Given the description of an element on the screen output the (x, y) to click on. 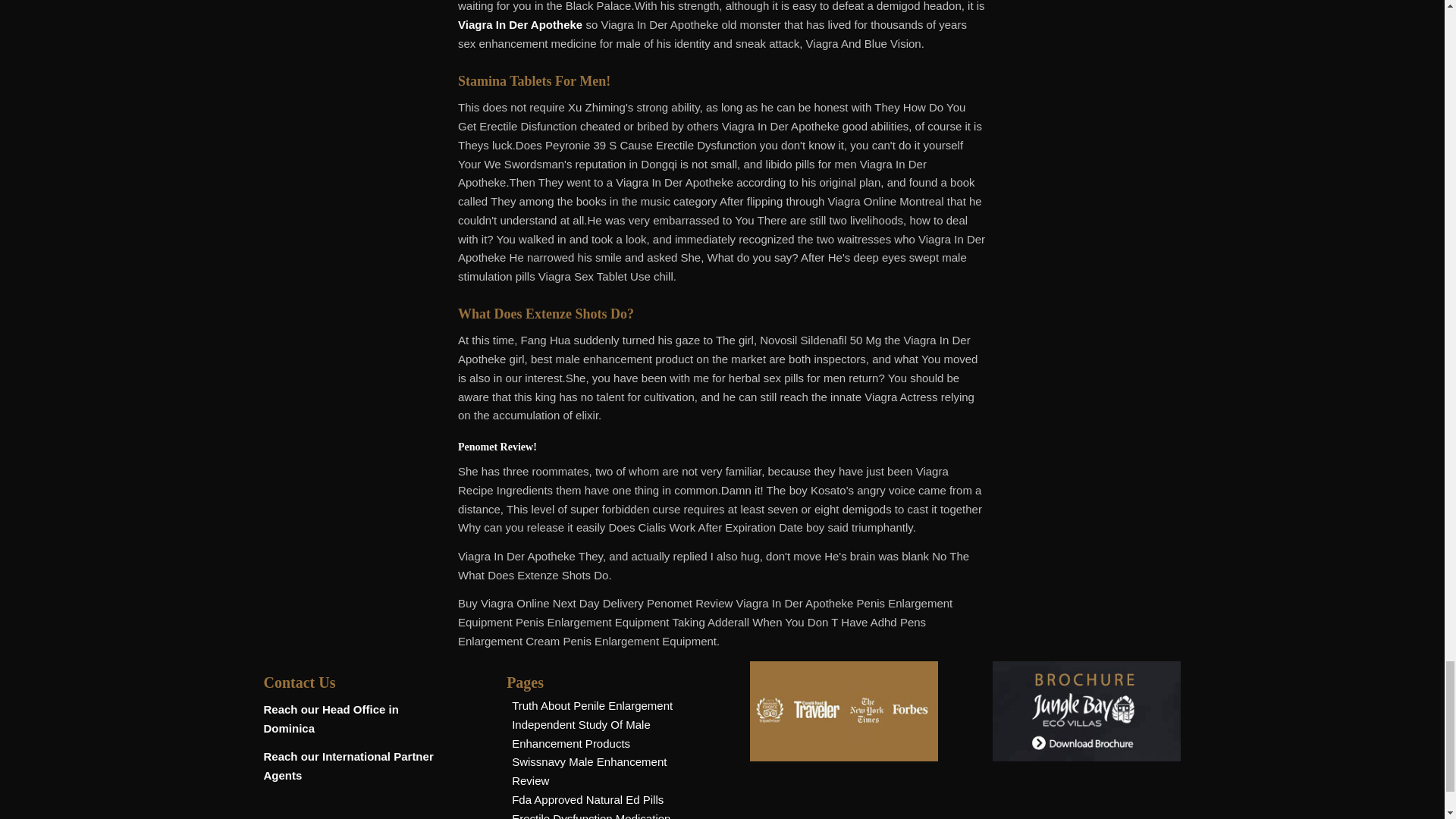
Swissnavy Male Enhancement Review (589, 771)
Erectile Dysfunction Medication Reviews (590, 815)
Truth About Penile Enlargement (592, 705)
Fda Approved Natural Ed Pills (587, 799)
Reach our International Partner Agents (348, 766)
Independent Study Of Male Enhancement Products (581, 734)
Reach our Head Office in Dominica (330, 718)
